Given the description of an element on the screen output the (x, y) to click on. 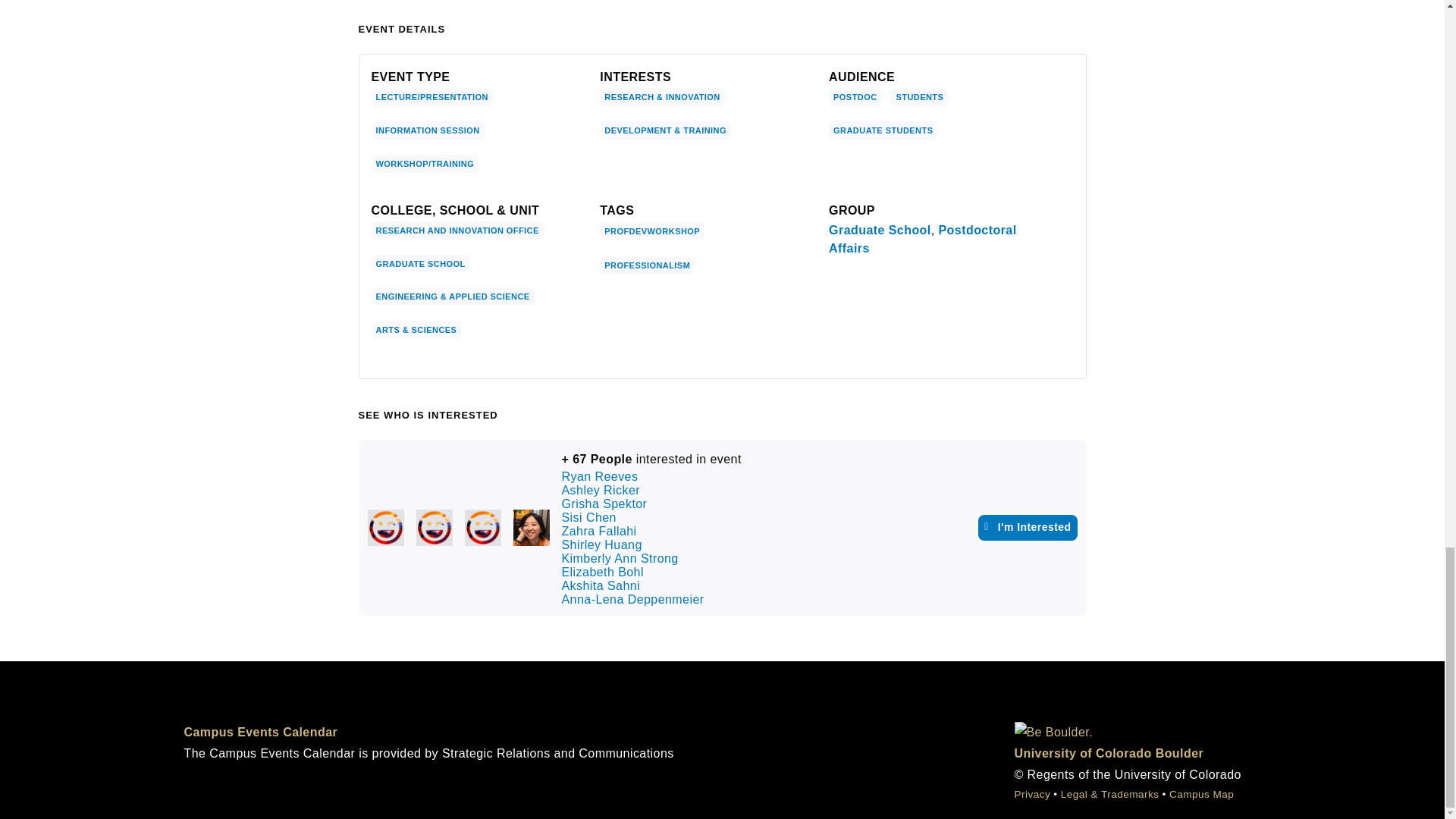
Sisi Chen (530, 527)
Grisha Spektor (482, 527)
Ryan Reeves (384, 527)
Ashley Ricker (432, 527)
